Given the description of an element on the screen output the (x, y) to click on. 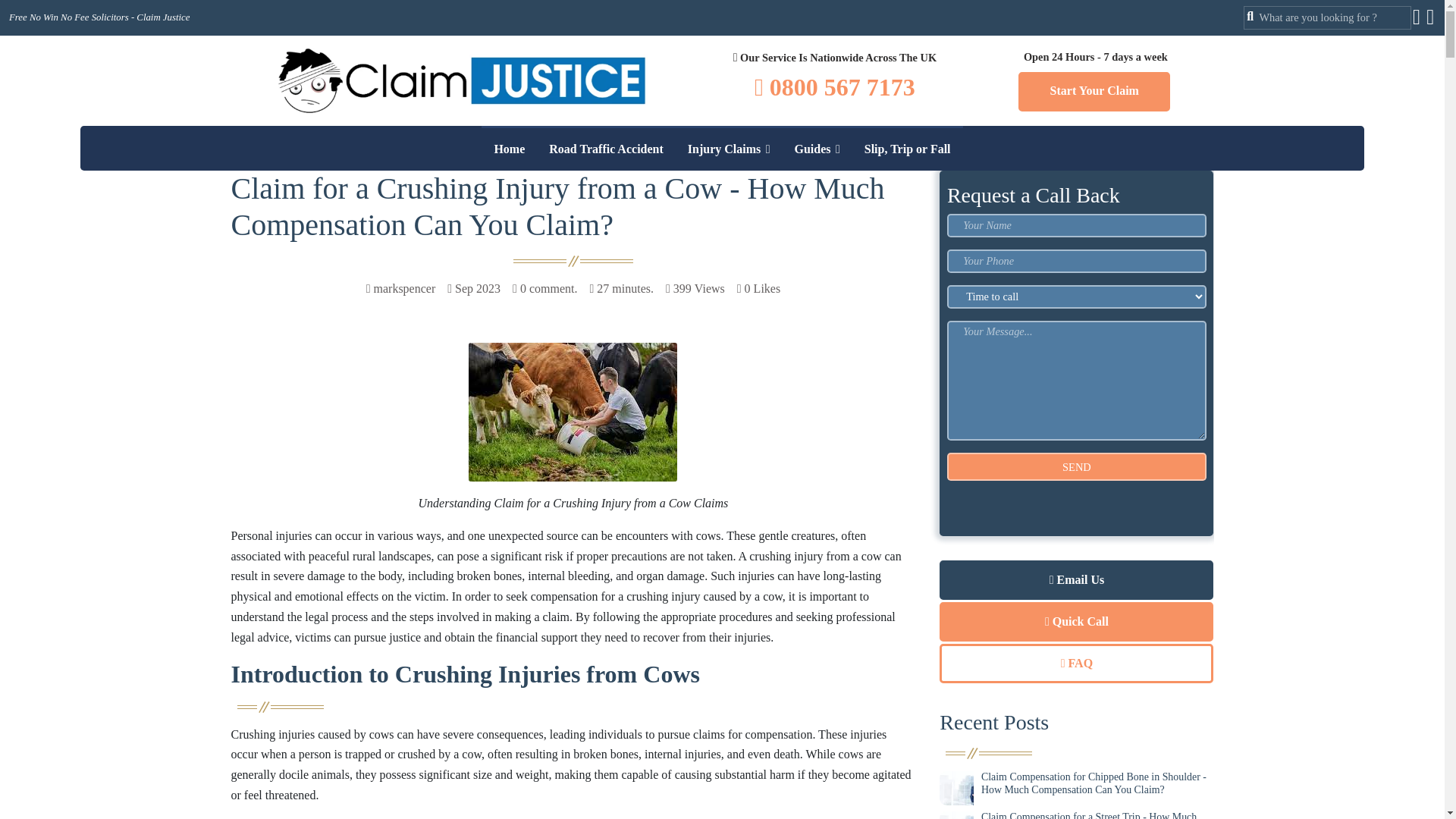
Claim Justice (461, 80)
No Win No Fee Compensation Claims (716, 386)
Published on: Sep 2023 (473, 289)
Personal Injury Solicitors Buckinghams (716, 551)
Motorbike Accident Claims (716, 223)
Written by markspencer (400, 289)
Car Accident Claims Solicitors (716, 58)
Injury at Work Claims (716, 345)
No Win No Fee Claims (716, 428)
This Article viewed 399 time. (695, 289)
Ladder Fall Claims (716, 264)
Visit us to our local office (834, 57)
Car Passenger Accident Claims (716, 140)
Coach Accident Claims (716, 182)
No Win No Fee Accident Injury Claims (716, 469)
